Given the description of an element on the screen output the (x, y) to click on. 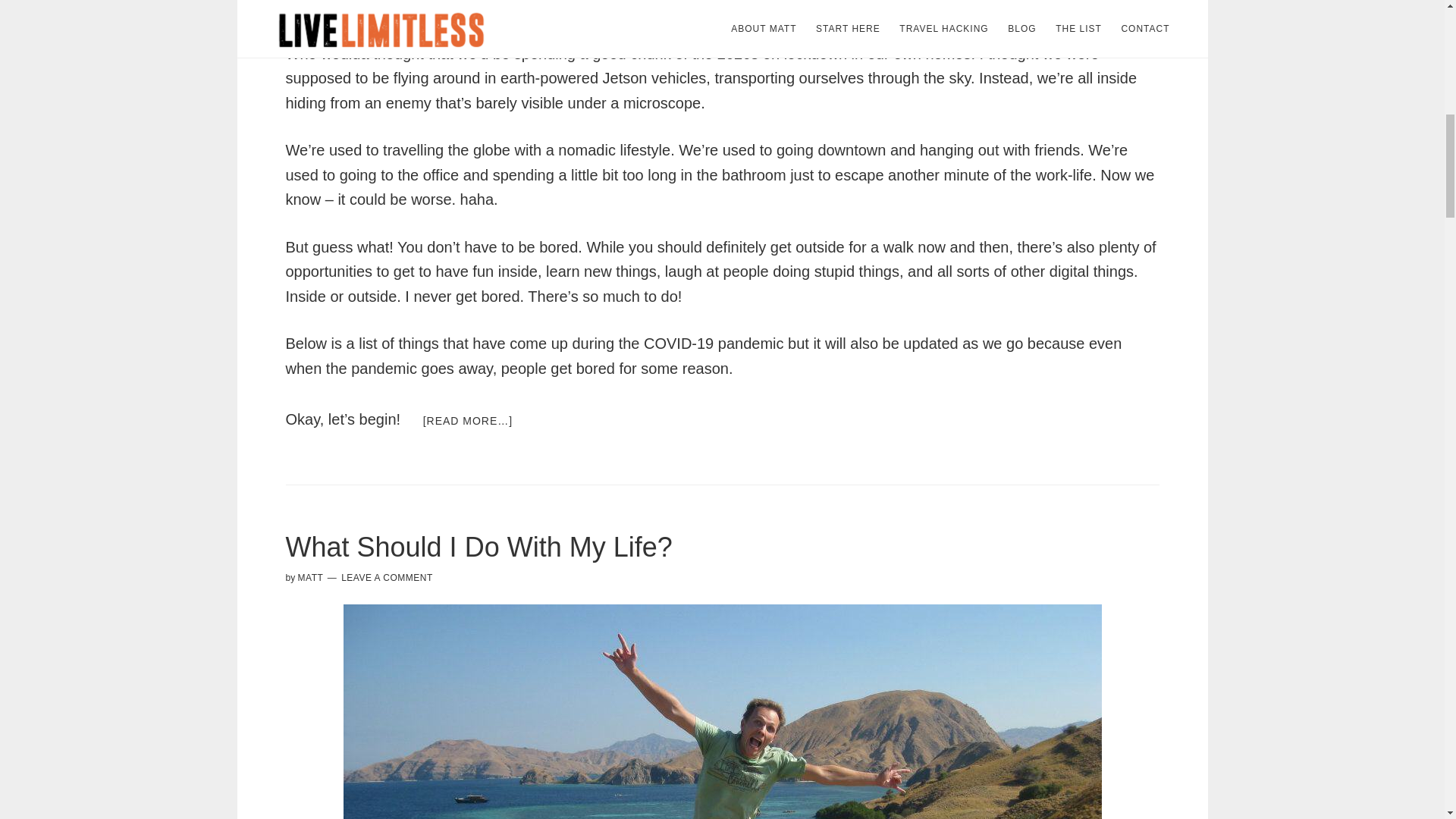
MATT (310, 577)
What Should I Do With My Life? (478, 546)
nomadic lifestyle (613, 149)
LEAVE A COMMENT (386, 577)
